Given the description of an element on the screen output the (x, y) to click on. 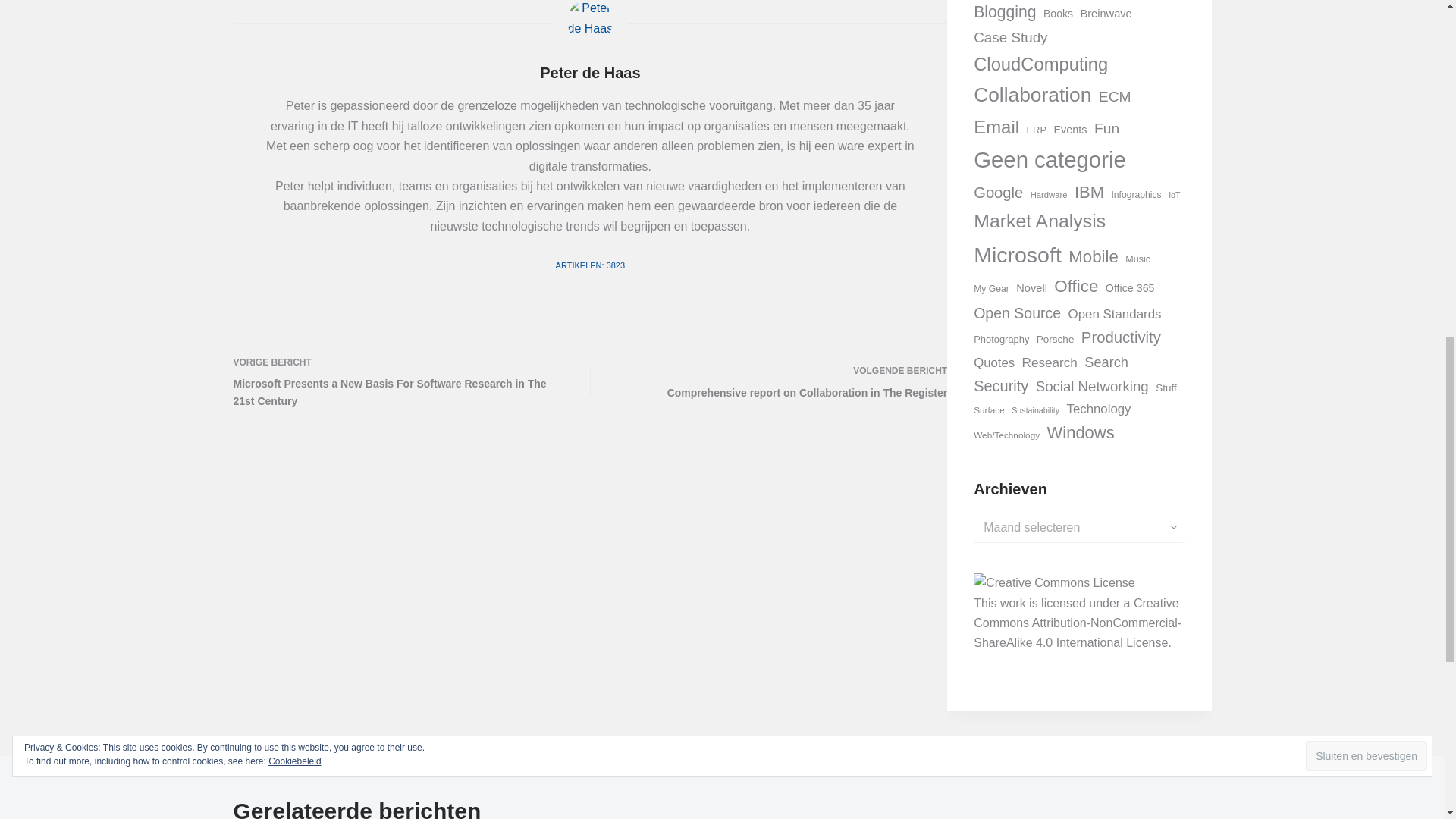
ARTIKELEN: 3823 (591, 264)
